Given the description of an element on the screen output the (x, y) to click on. 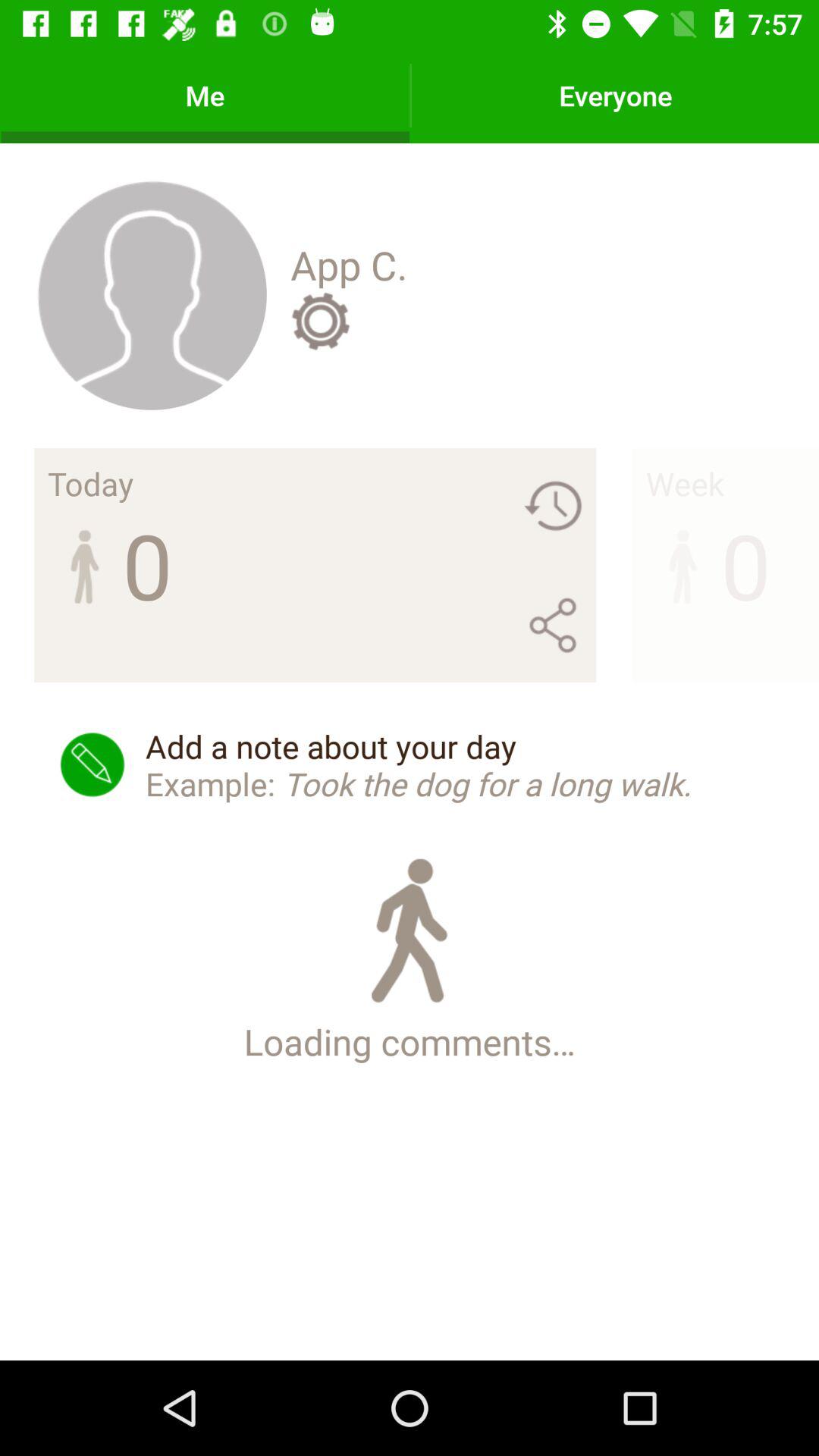
choose the icon to the left of app c. icon (150, 294)
